Given the description of an element on the screen output the (x, y) to click on. 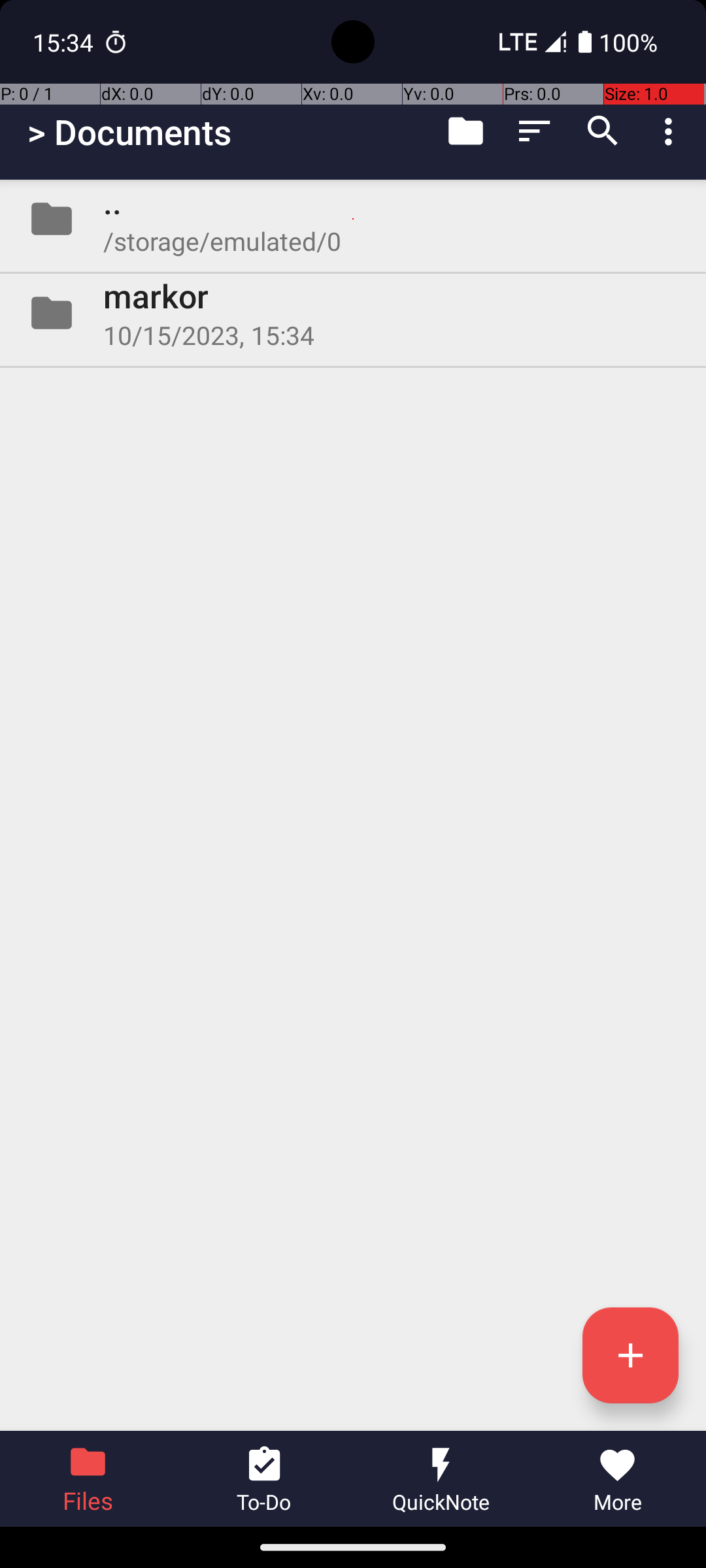
> Documents Element type: android.widget.TextView (129, 131)
Folder markor  Element type: android.widget.LinearLayout (353, 312)
